Given the description of an element on the screen output the (x, y) to click on. 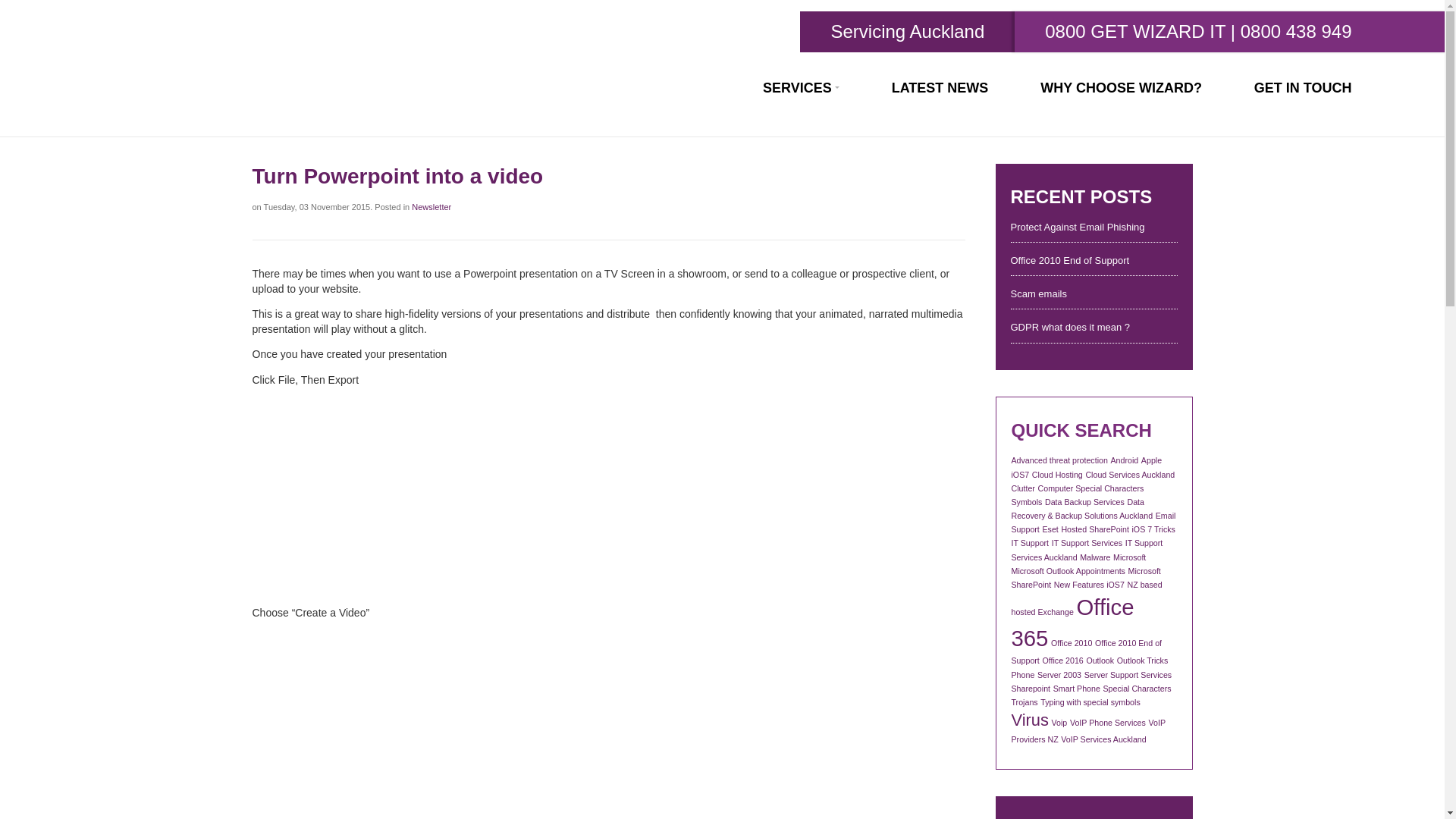
Advanced threat protection (1059, 460)
SERVICES (801, 88)
GDPR what does it mean ? (1093, 327)
IT Support Services Auckland (1087, 549)
IT Support (1030, 542)
Cloud Services Auckland (1129, 474)
IT Support Services (1086, 542)
Turn Powerpoint into a video (429, 494)
Data Backup Services (1084, 501)
Clutter (1023, 488)
Hosted SharePoint (1094, 528)
Email Support (1093, 522)
iOS 7 Tricks (1152, 528)
GET IN TOUCH (1302, 88)
Android (1123, 460)
